Given the description of an element on the screen output the (x, y) to click on. 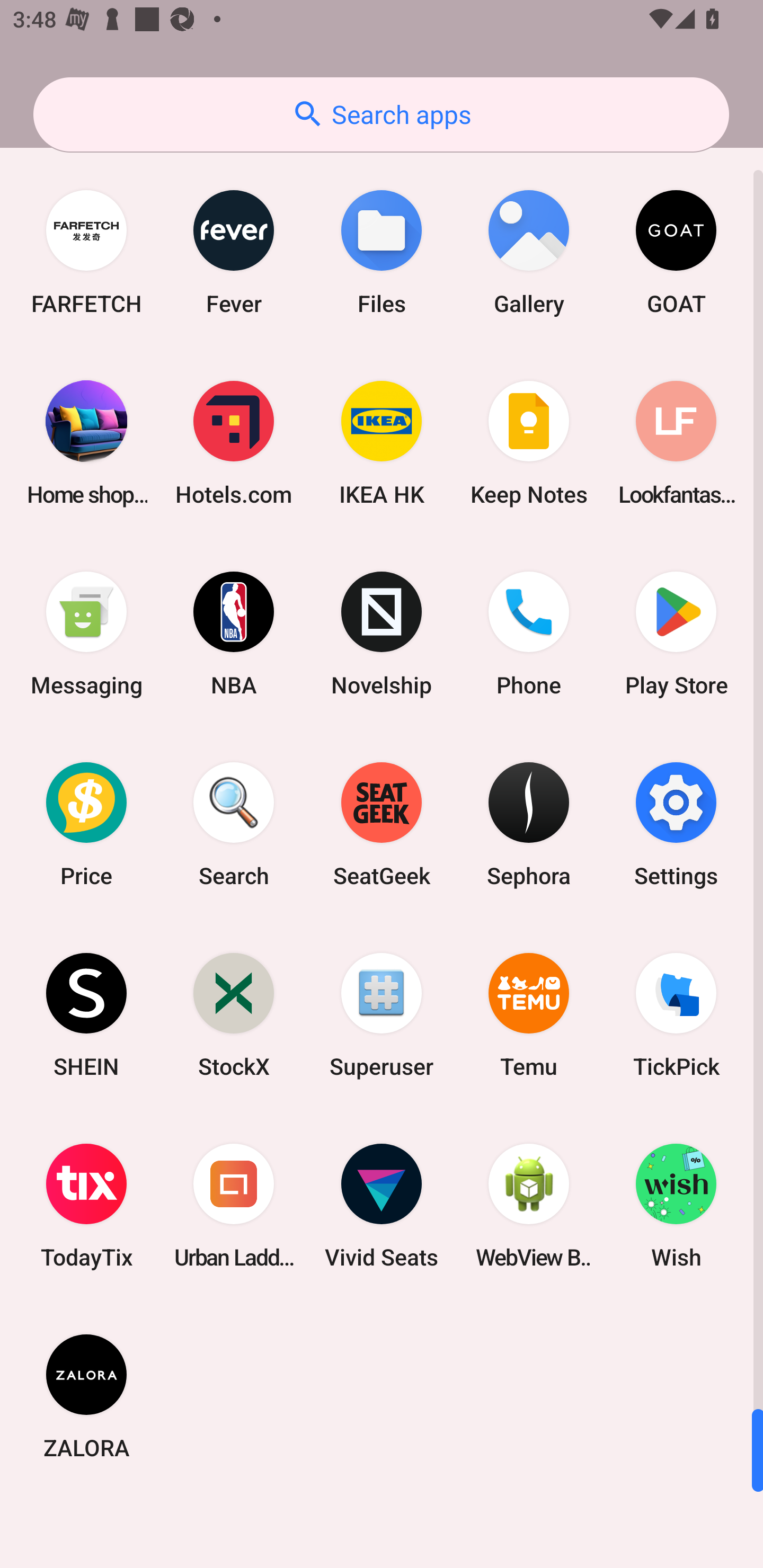
  Search apps (381, 114)
FARFETCH (86, 252)
Fever (233, 252)
Files (381, 252)
Gallery (528, 252)
GOAT (676, 252)
Home shopping (86, 442)
Hotels.com (233, 442)
IKEA HK (381, 442)
Keep Notes (528, 442)
Lookfantastic (676, 442)
Messaging (86, 633)
NBA (233, 633)
Novelship (381, 633)
Phone (528, 633)
Play Store (676, 633)
Price (86, 823)
Search (233, 823)
SeatGeek (381, 823)
Sephora (528, 823)
Settings (676, 823)
SHEIN (86, 1014)
StockX (233, 1014)
Superuser (381, 1014)
Temu (528, 1014)
TickPick (676, 1014)
TodayTix (86, 1205)
Urban Ladder (233, 1205)
Vivid Seats (381, 1205)
WebView Browser Tester (528, 1205)
Wish (676, 1205)
ZALORA (86, 1396)
